Given the description of an element on the screen output the (x, y) to click on. 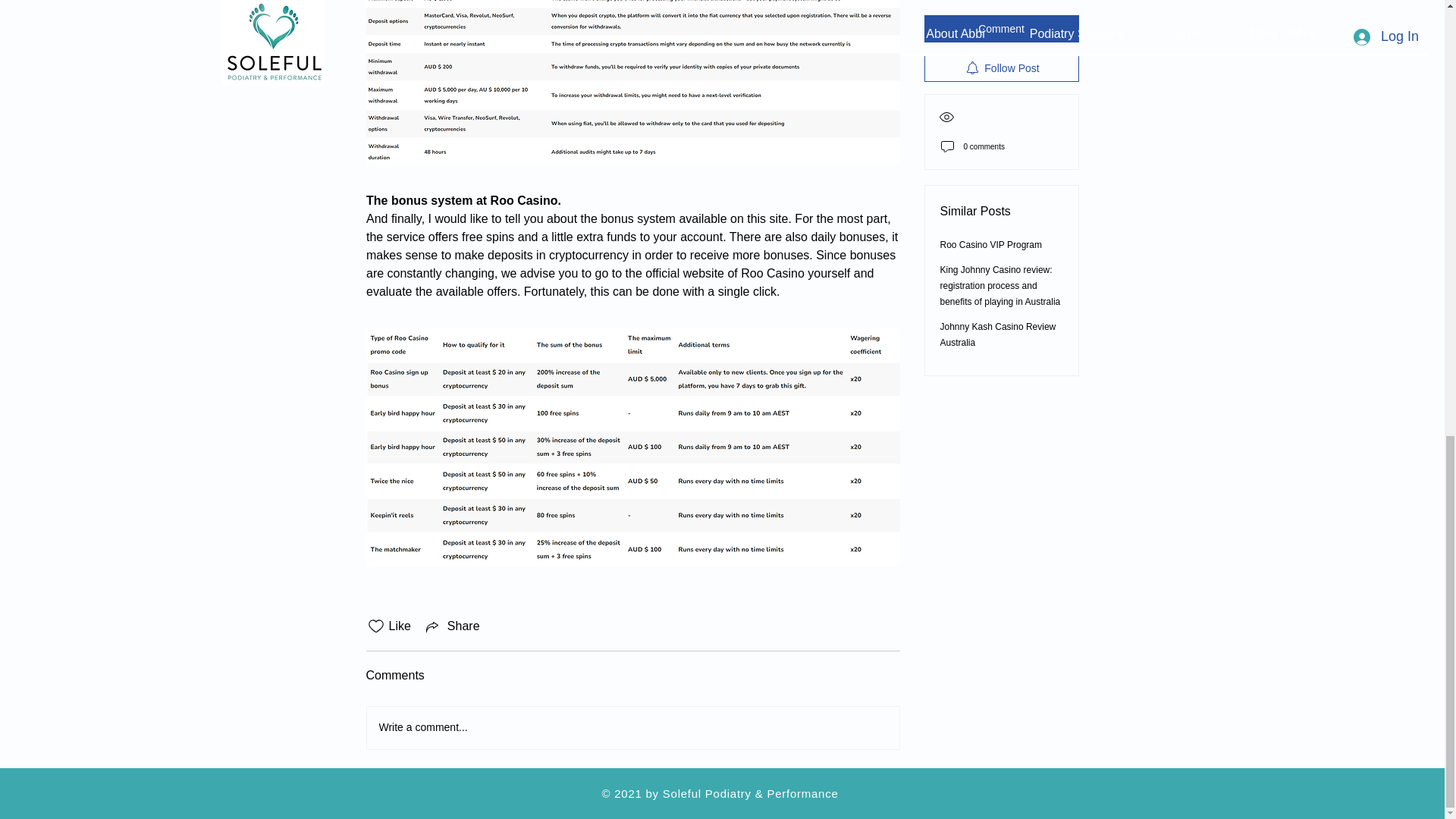
Write a comment... (632, 727)
Share (451, 626)
